Given the description of an element on the screen output the (x, y) to click on. 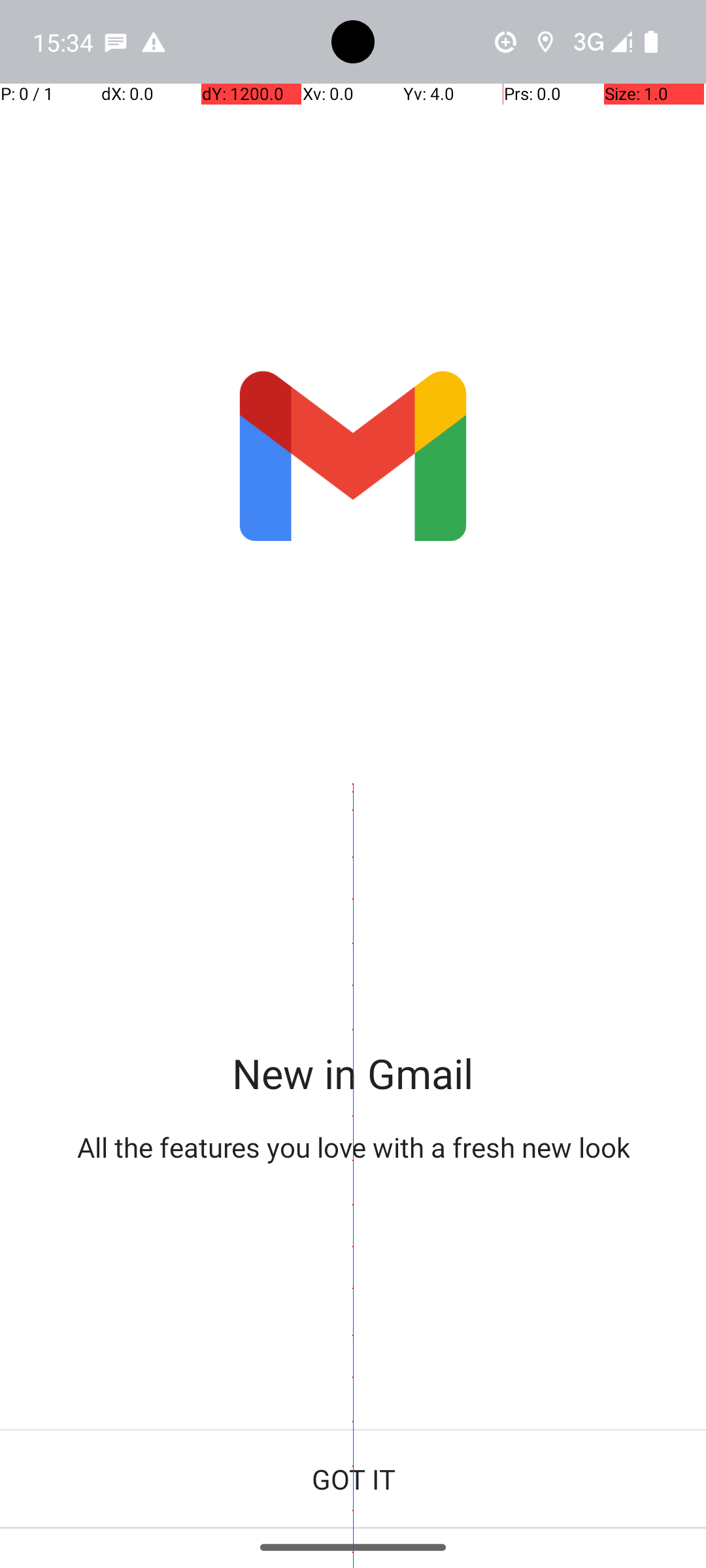
GOT IT Element type: android.widget.TextView (353, 1478)
New in Gmail Element type: android.widget.TextView (352, 1072)
All the features you love with a fresh new look Element type: android.widget.TextView (352, 1146)
Data Saver is on Element type: android.widget.ImageView (505, 41)
Location requests active Element type: android.widget.ImageView (545, 41)
